Given the description of an element on the screen output the (x, y) to click on. 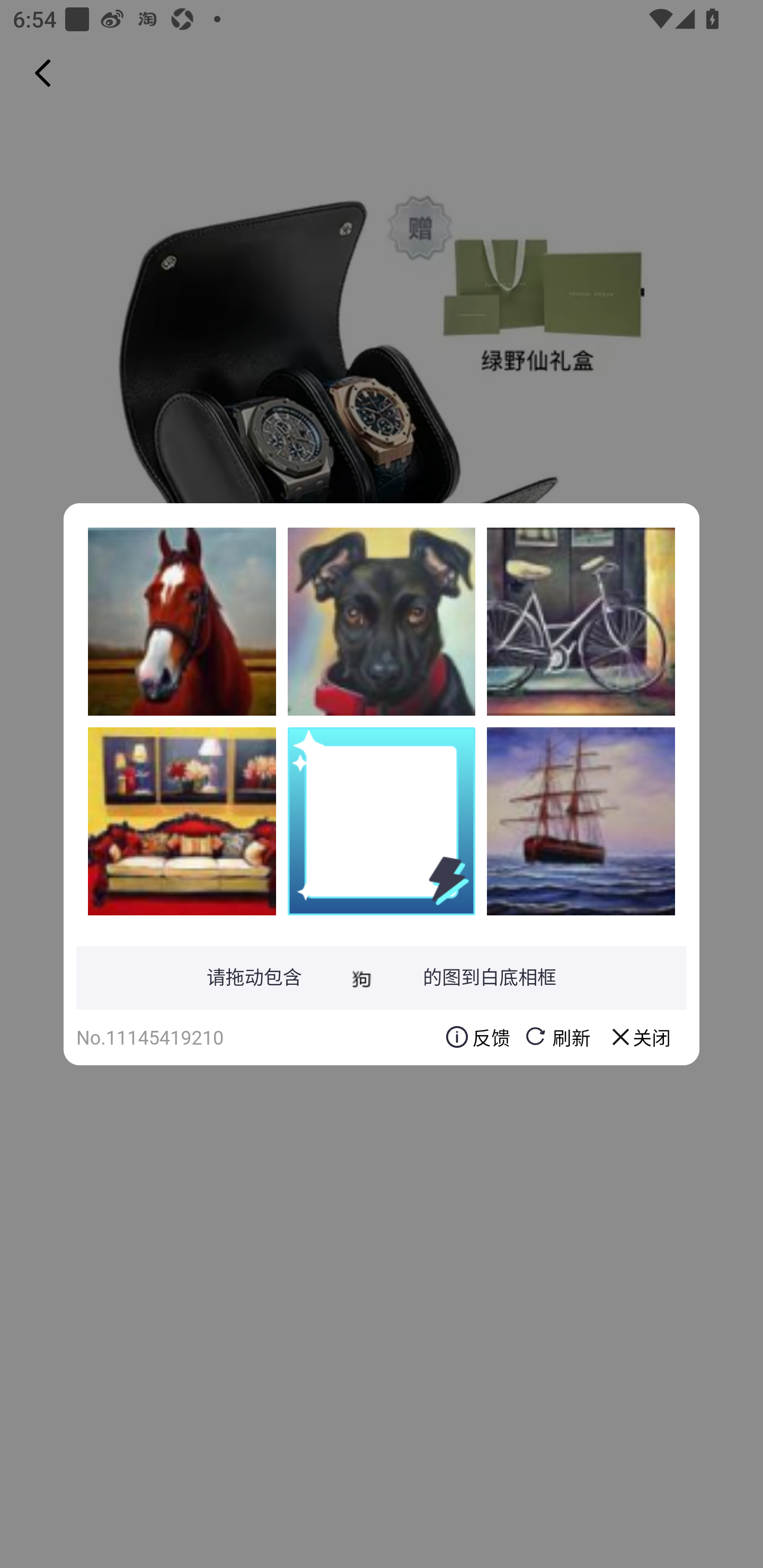
LQSkOLcgG6J (580, 820)
